Given the description of an element on the screen output the (x, y) to click on. 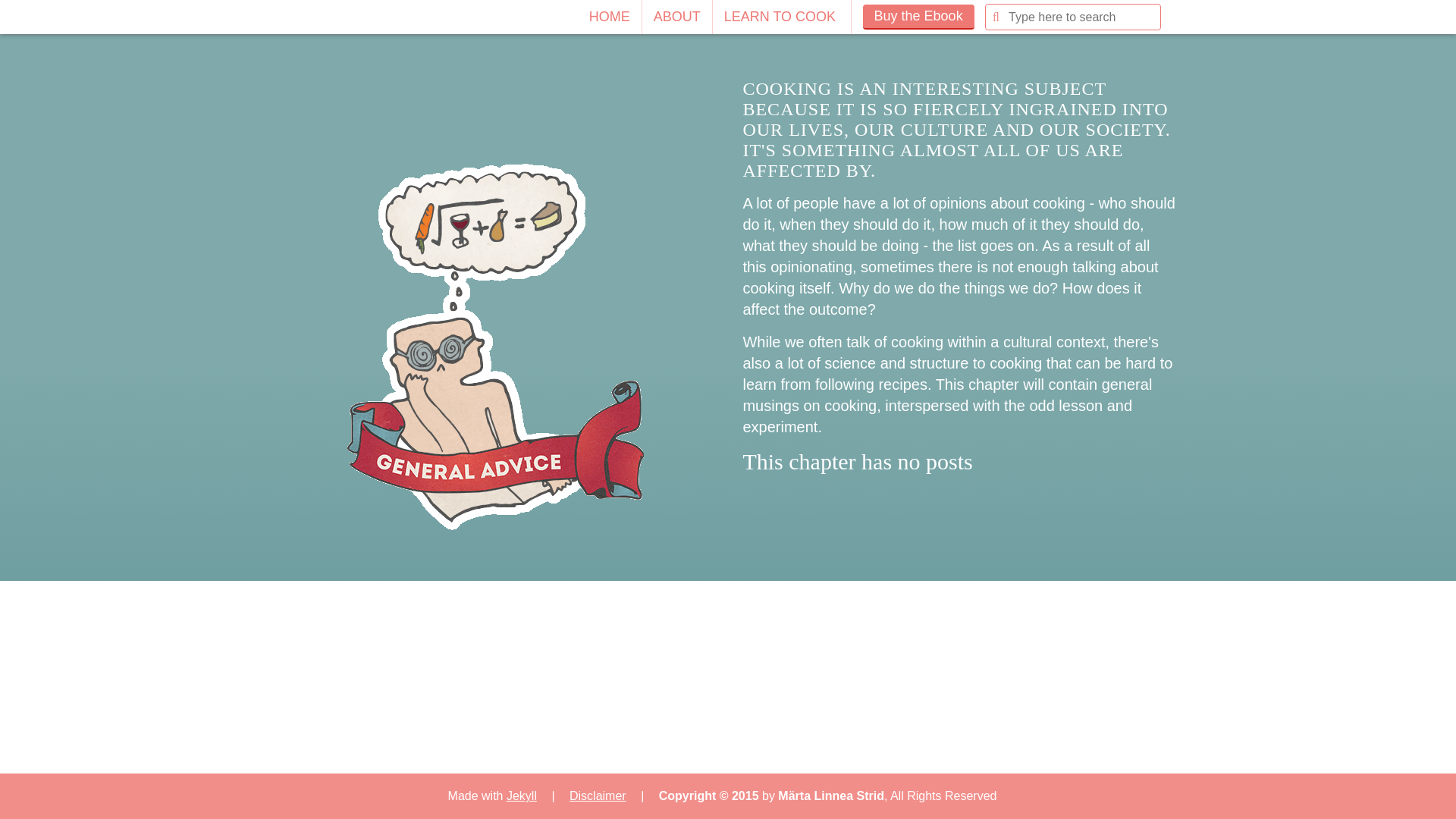
Buy the Ebook (918, 16)
Jekyll (521, 795)
ABOUT (677, 17)
LEARN TO COOK (782, 17)
HOME (610, 17)
Disclaimer (597, 795)
